Given the description of an element on the screen output the (x, y) to click on. 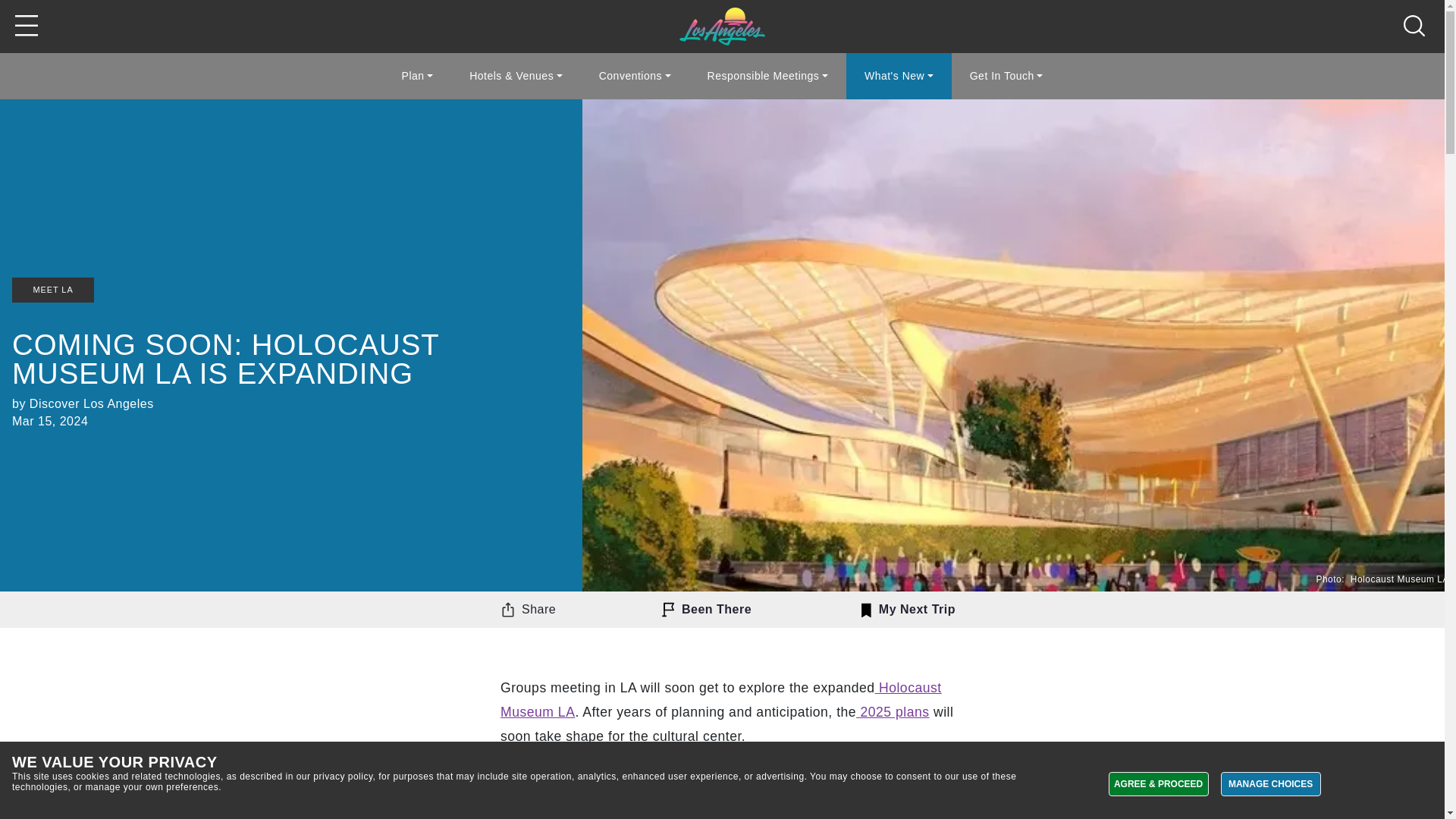
Menu (26, 26)
open search box (1417, 26)
Meet LA (722, 26)
View more content by Discover Los Angeles (93, 403)
